Given the description of an element on the screen output the (x, y) to click on. 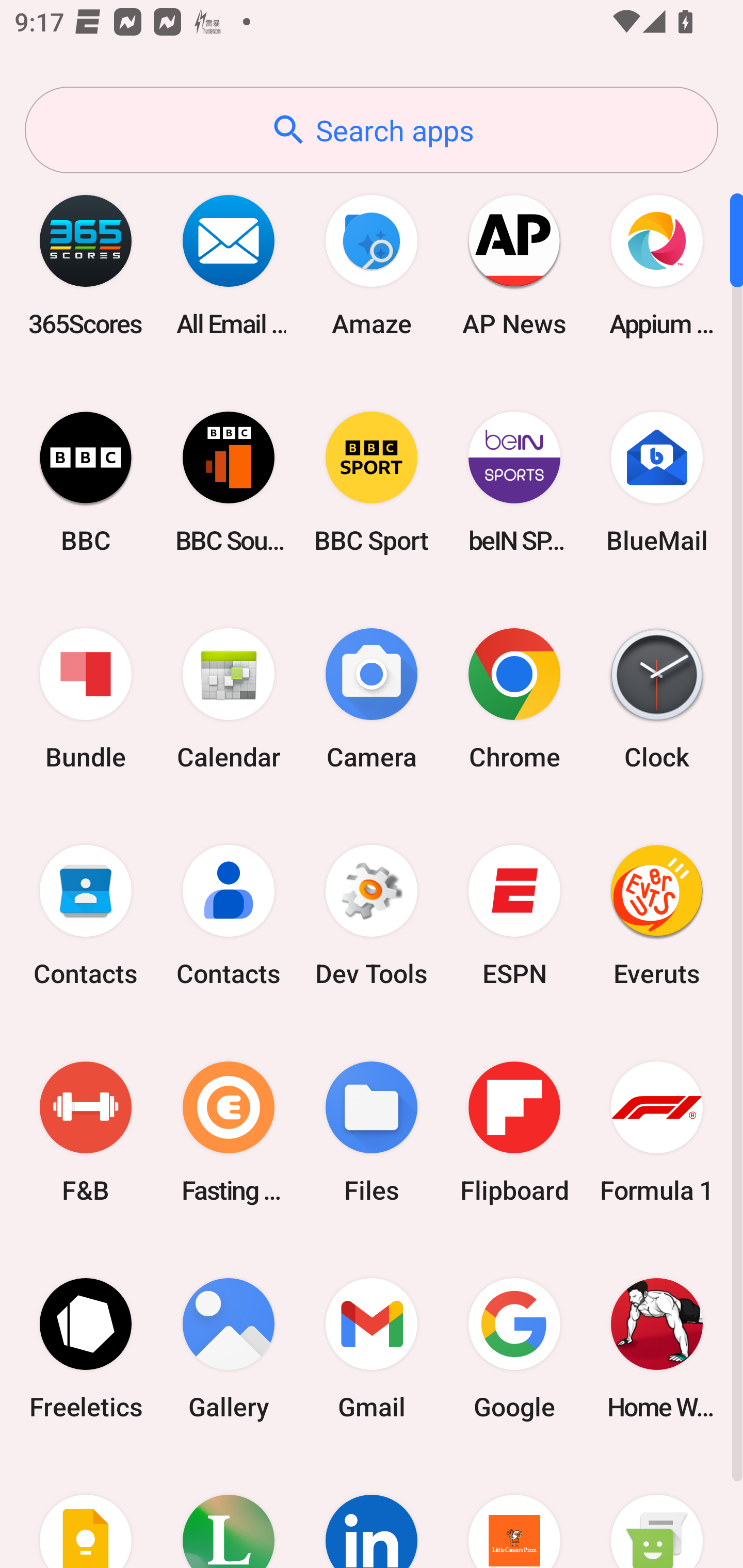
  Search apps (371, 130)
365Scores (85, 264)
All Email Connect (228, 264)
Amaze (371, 264)
AP News (514, 264)
Appium Settings (656, 264)
BBC (85, 482)
BBC Sounds (228, 482)
BBC Sport (371, 482)
beIN SPORTS (514, 482)
BlueMail (656, 482)
Bundle (85, 699)
Calendar (228, 699)
Camera (371, 699)
Chrome (514, 699)
Clock (656, 699)
Contacts (85, 915)
Contacts (228, 915)
Dev Tools (371, 915)
ESPN (514, 915)
Everuts (656, 915)
F&B (85, 1131)
Fasting Coach (228, 1131)
Files (371, 1131)
Flipboard (514, 1131)
Formula 1 (656, 1131)
Freeletics (85, 1348)
Gallery (228, 1348)
Gmail (371, 1348)
Google (514, 1348)
Home Workout (656, 1348)
